Given the description of an element on the screen output the (x, y) to click on. 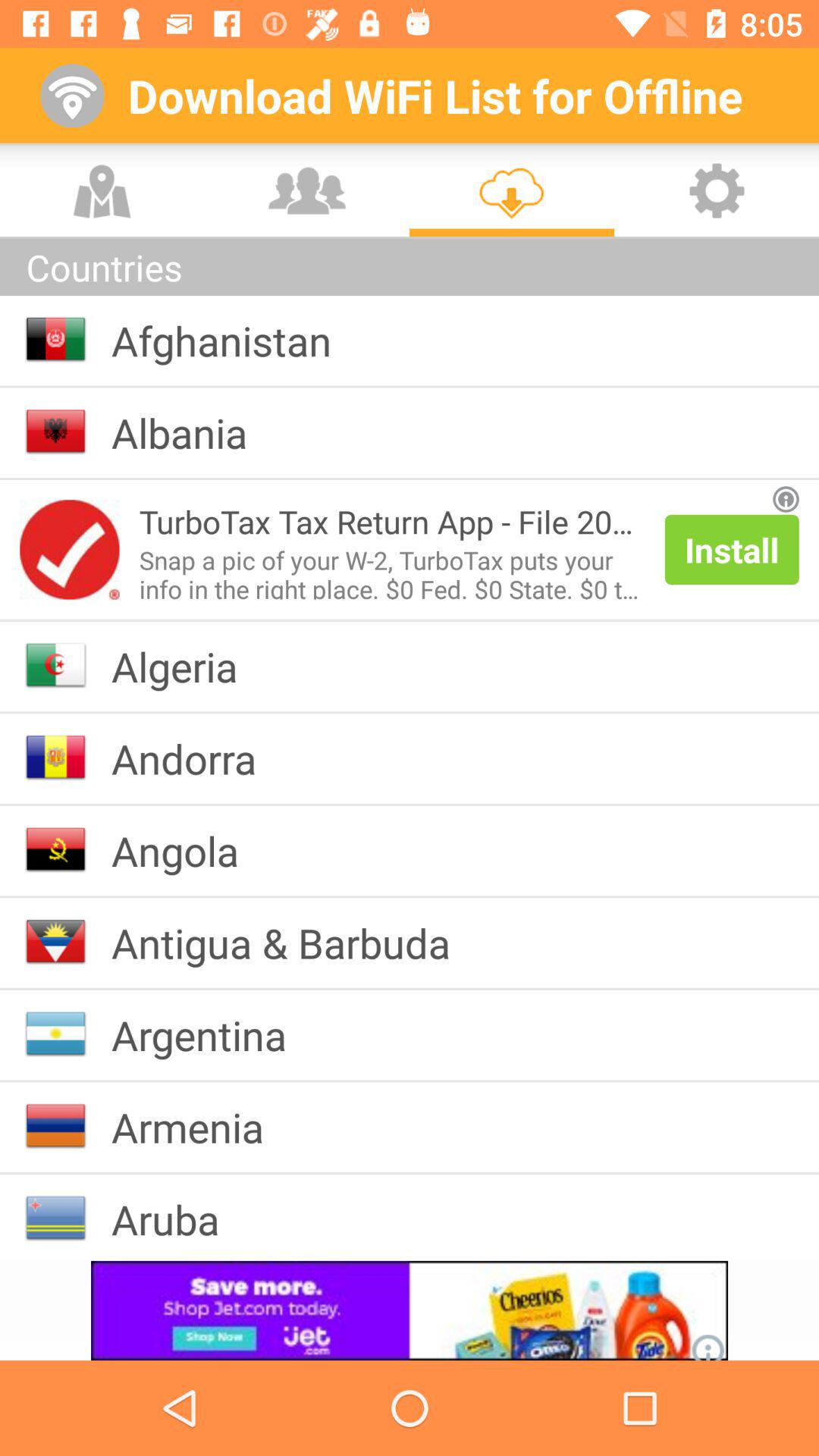
turn off argentina app (210, 1034)
